Given the description of an element on the screen output the (x, y) to click on. 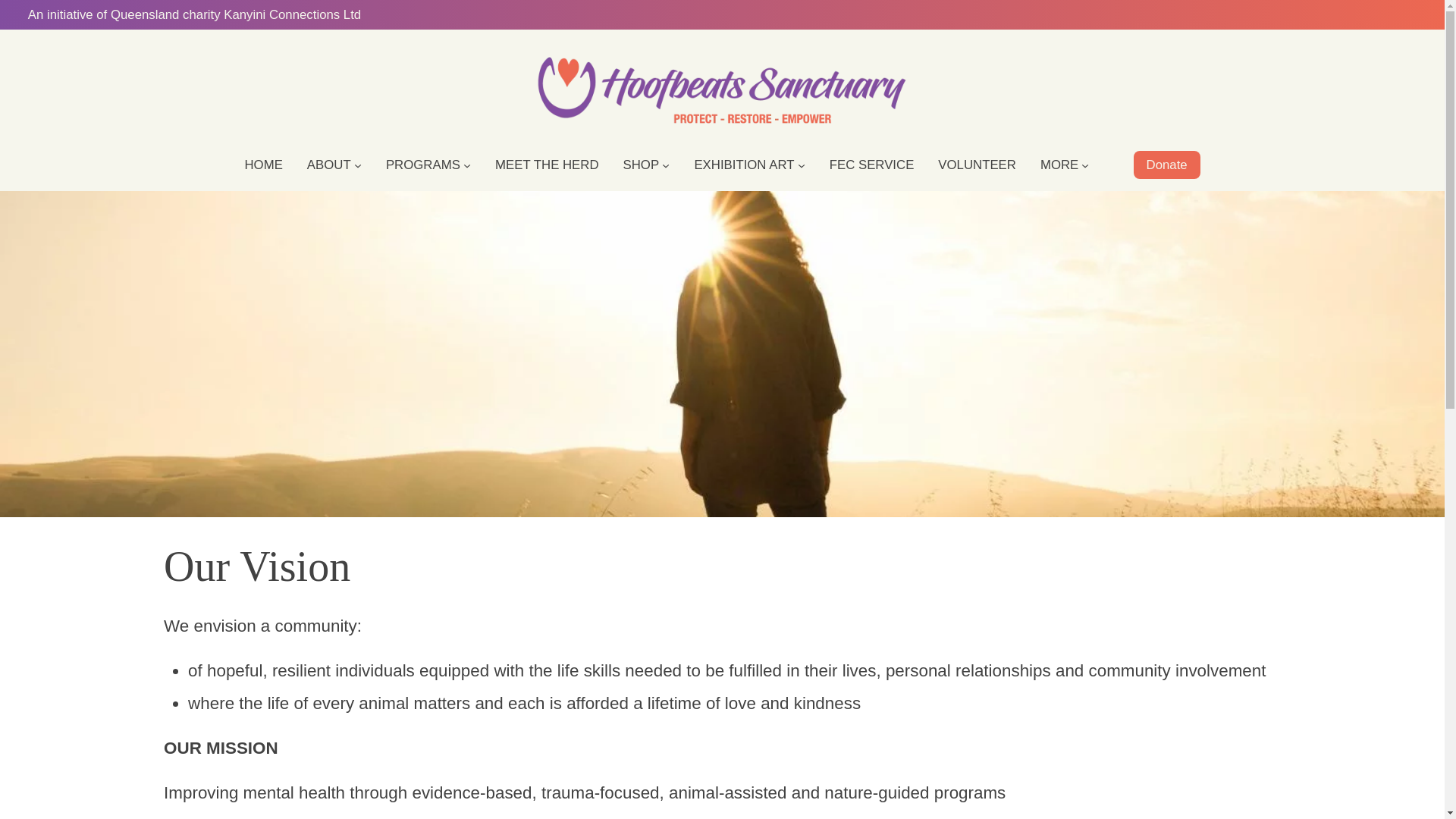
SHOP (641, 165)
MORE (1059, 165)
ABOUT (328, 165)
PROGRAMS (422, 165)
FEC SERVICE (871, 165)
MEET THE HERD (546, 165)
EXHIBITION ART (743, 165)
HOME (263, 165)
VOLUNTEER (976, 165)
